Given the description of an element on the screen output the (x, y) to click on. 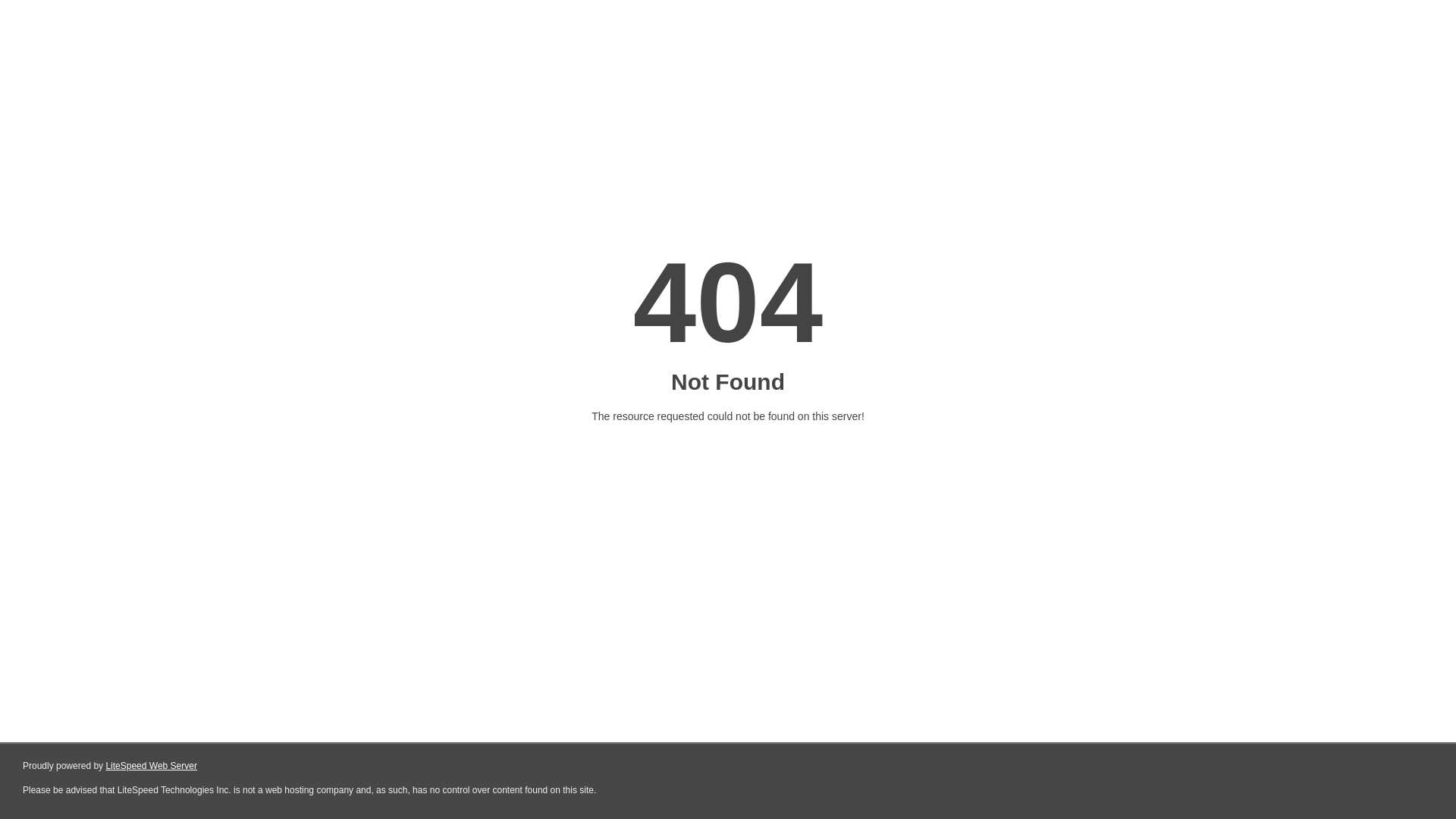
LiteSpeed Web Server Element type: text (151, 765)
